Given the description of an element on the screen output the (x, y) to click on. 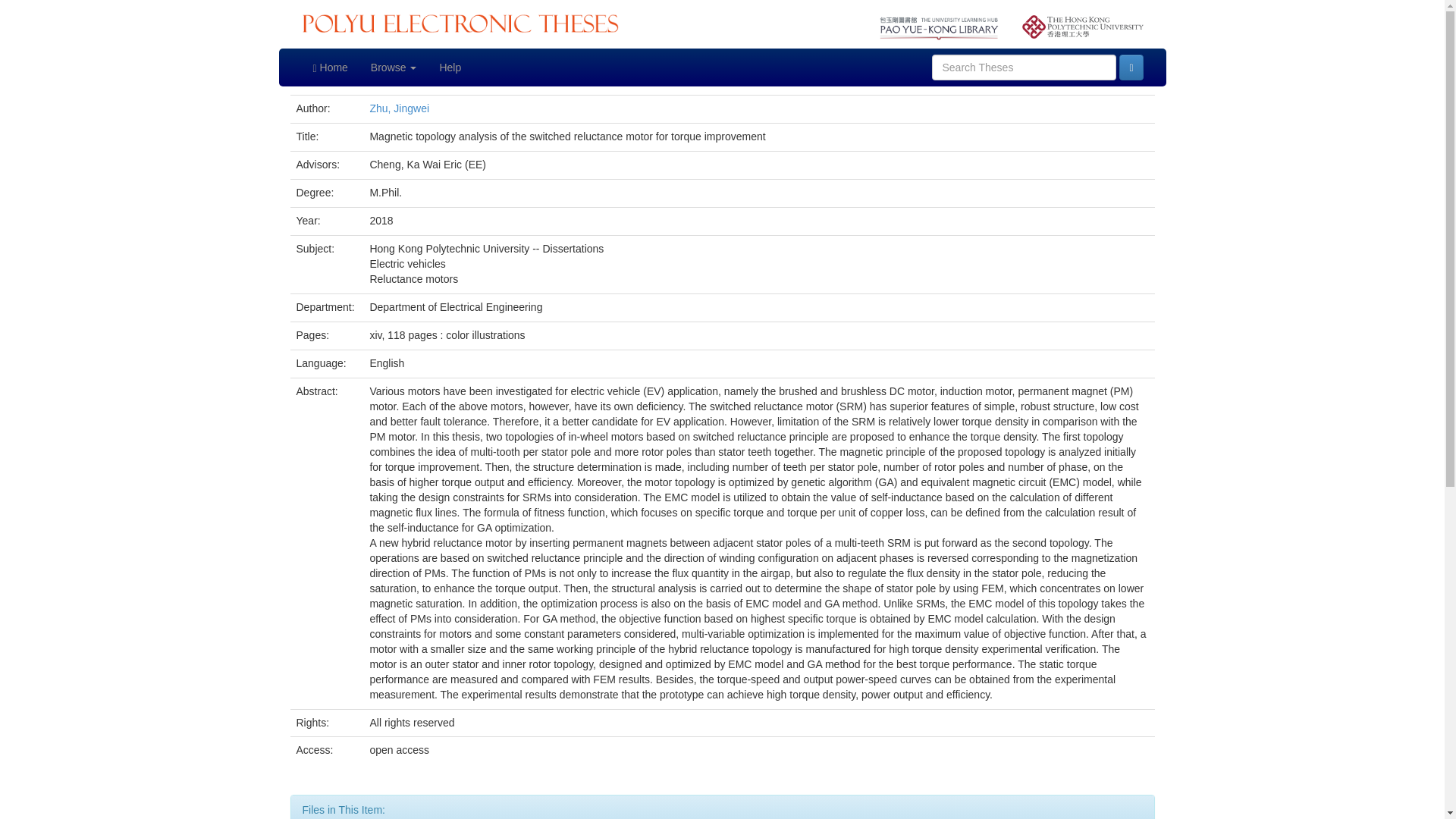
Help (449, 67)
Home (330, 67)
Zhu, Jingwei (399, 108)
Browse (393, 67)
